Given the description of an element on the screen output the (x, y) to click on. 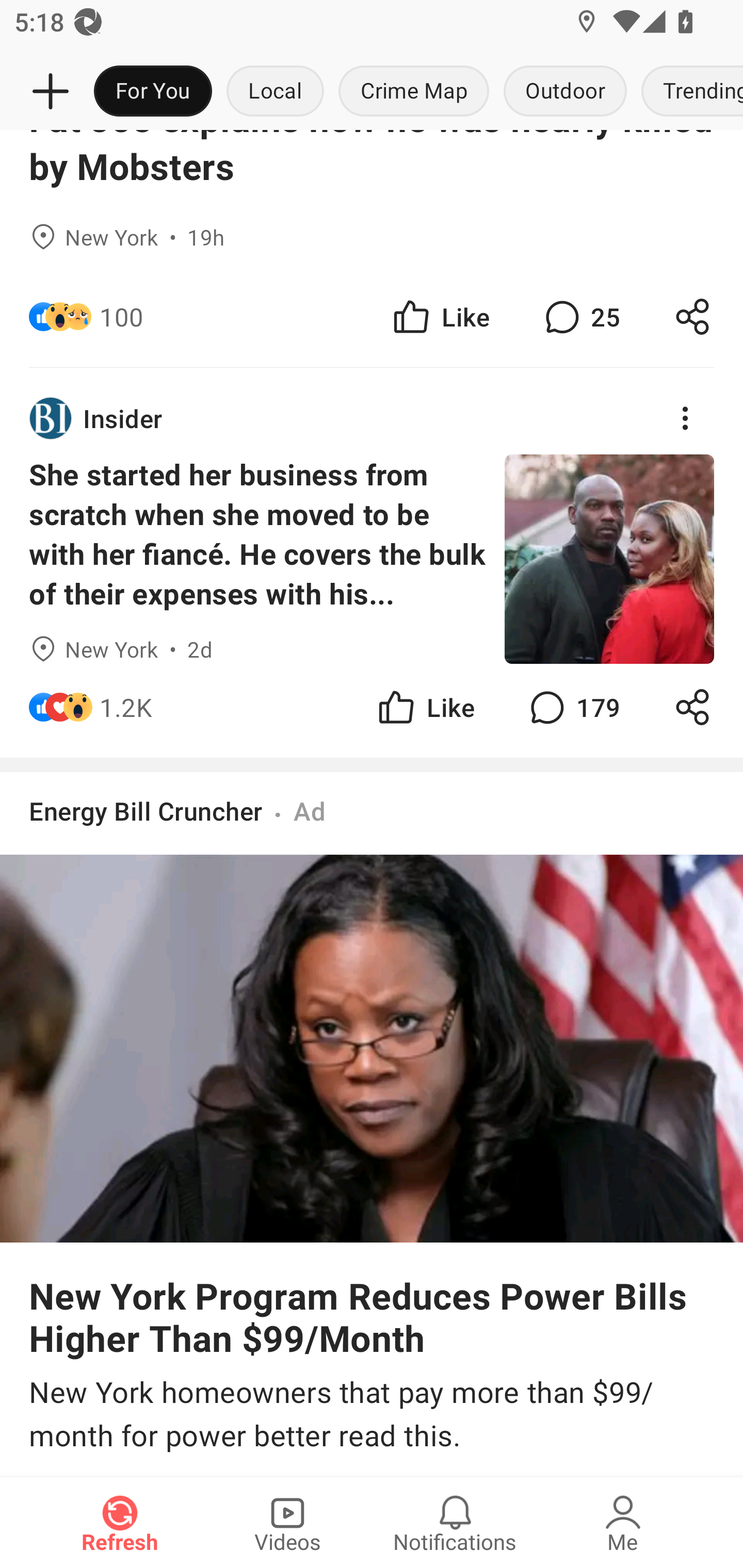
For You (152, 91)
Local (275, 91)
Crime Map (413, 91)
Outdoor (564, 91)
Trending (688, 91)
100 (121, 316)
Like (439, 316)
25 (579, 316)
1.2K (125, 707)
Like (425, 707)
179 (572, 707)
Energy Bill Cruncher (145, 810)
Videos (287, 1522)
Notifications (455, 1522)
Me (622, 1522)
